Given the description of an element on the screen output the (x, y) to click on. 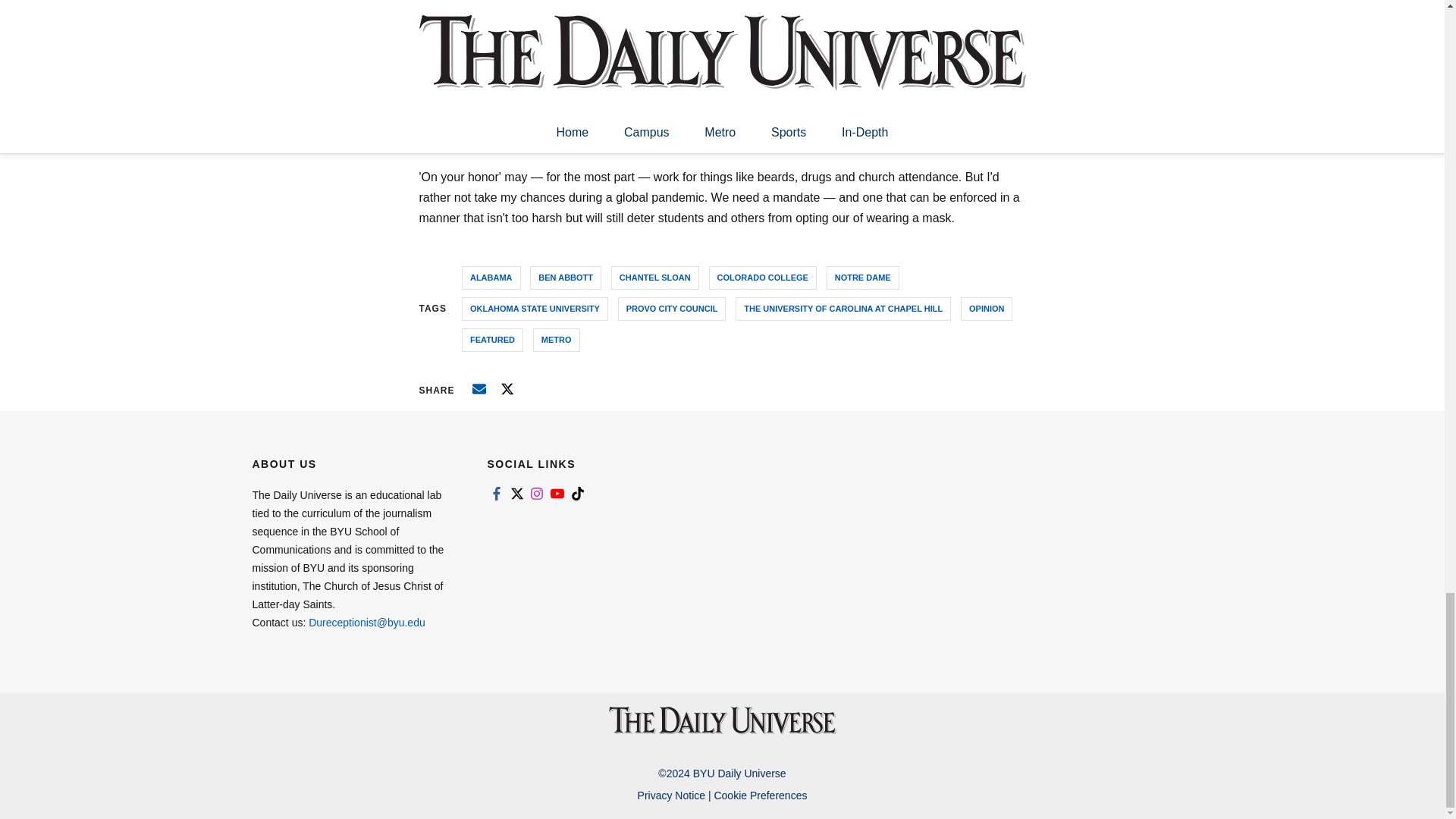
FEATURED (491, 340)
Fall Semester (914, 30)
ALABAMA (491, 277)
THE UNIVERSITY OF CAROLINA AT CHAPEL HILL (842, 309)
BEN ABBOTT (565, 277)
NOTRE DAME (863, 277)
OPINION (985, 309)
Email (478, 388)
CHANTEL SLOAN (654, 277)
OKLAHOMA STATE UNIVERSITY (534, 309)
